Given the description of an element on the screen output the (x, y) to click on. 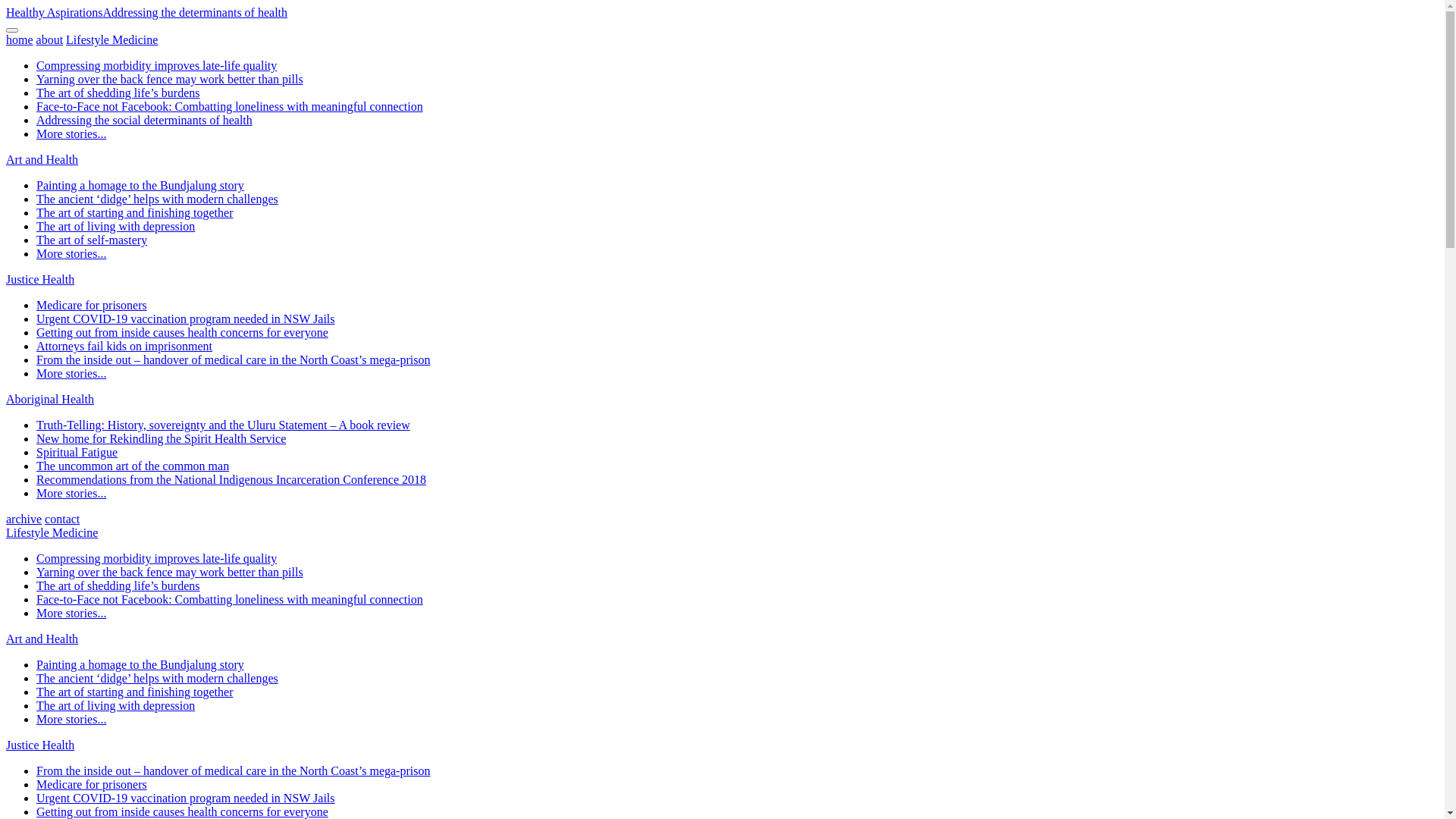
Compressing morbidity improves late-life quality Element type: text (156, 558)
Getting out from inside causes health concerns for everyone Element type: text (182, 811)
Lifestyle Medicine Element type: text (51, 532)
archive Element type: text (23, 518)
The art of living with depression Element type: text (115, 705)
contact Element type: text (61, 518)
The uncommon art of the common man Element type: text (132, 465)
More stories... Element type: text (71, 612)
Urgent COVID-19 vaccination program needed in NSW Jails Element type: text (185, 318)
Painting a homage to the Bundjalung story Element type: text (140, 664)
More stories... Element type: text (71, 492)
The art of self-mastery Element type: text (91, 239)
More stories... Element type: text (71, 253)
Medicare for prisoners Element type: text (91, 784)
Art and Health Element type: text (42, 638)
Attorneys fail kids on imprisonment Element type: text (124, 345)
Medicare for prisoners Element type: text (91, 304)
Yarning over the back fence may work better than pills Element type: text (169, 78)
Lifestyle Medicine Element type: text (111, 39)
New home for Rekindling the Spirit Health Service Element type: text (160, 438)
Justice Health Element type: text (40, 279)
Addressing the social determinants of health Element type: text (144, 119)
Art and Health Element type: text (42, 159)
The art of living with depression Element type: text (115, 225)
Spiritual Fatigue Element type: text (76, 451)
home Element type: text (19, 39)
More stories... Element type: text (71, 133)
The art of starting and finishing together Element type: text (134, 212)
Compressing morbidity improves late-life quality Element type: text (156, 65)
Healthy AspirationsAddressing the determinants of health Element type: text (146, 12)
Yarning over the back fence may work better than pills Element type: text (169, 571)
about Element type: text (49, 39)
Aboriginal Health Element type: text (50, 398)
More stories... Element type: text (71, 373)
Urgent COVID-19 vaccination program needed in NSW Jails Element type: text (185, 797)
The art of starting and finishing together Element type: text (134, 691)
Painting a homage to the Bundjalung story Element type: text (140, 184)
Getting out from inside causes health concerns for everyone Element type: text (182, 332)
More stories... Element type: text (71, 718)
Justice Health Element type: text (40, 744)
